Given the description of an element on the screen output the (x, y) to click on. 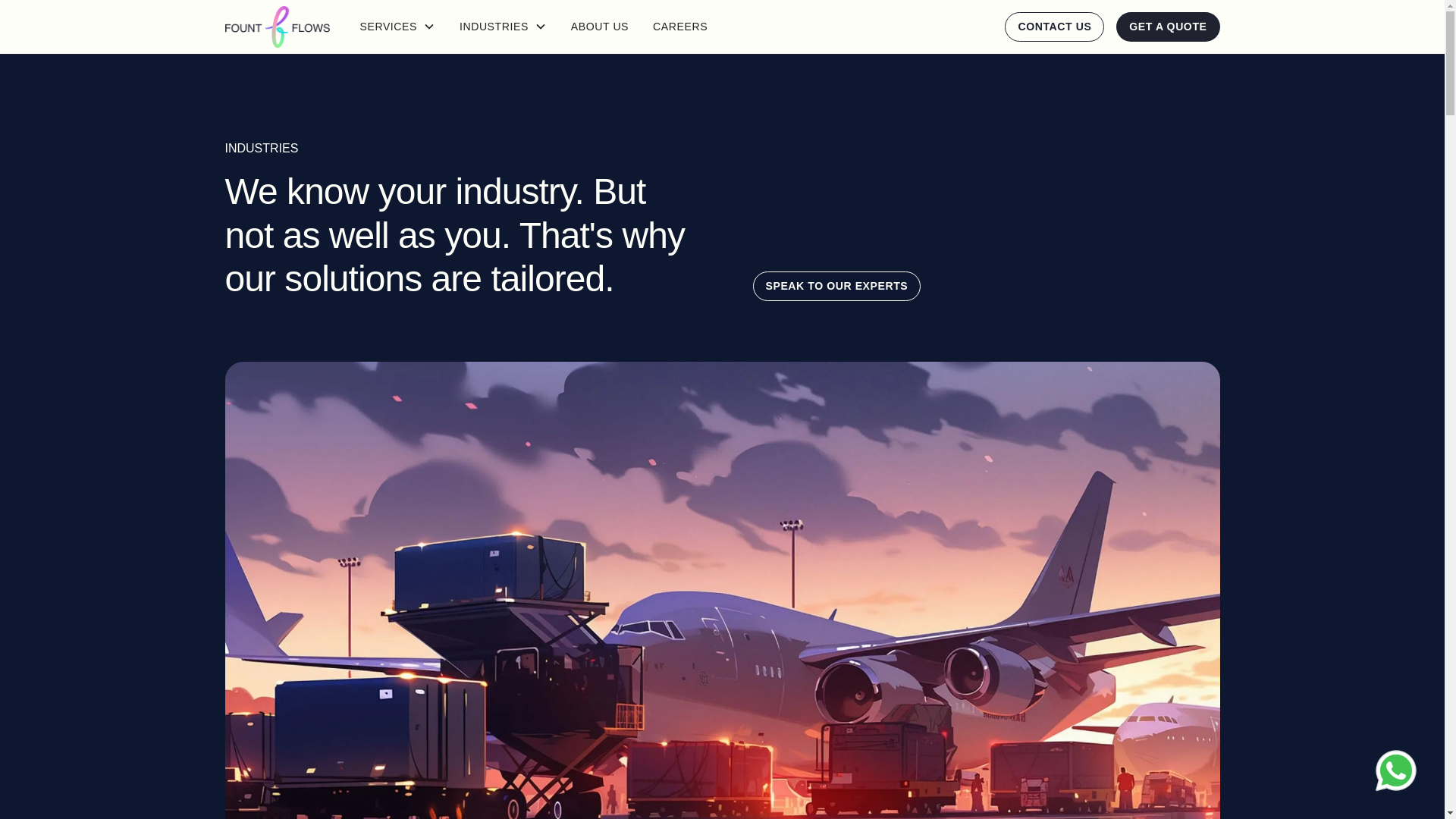
GET A QUOTE (1168, 26)
ABOUT US (599, 26)
CAREERS (679, 26)
CONTACT US (1053, 26)
SPEAK TO OUR EXPERTS (836, 286)
